Given the description of an element on the screen output the (x, y) to click on. 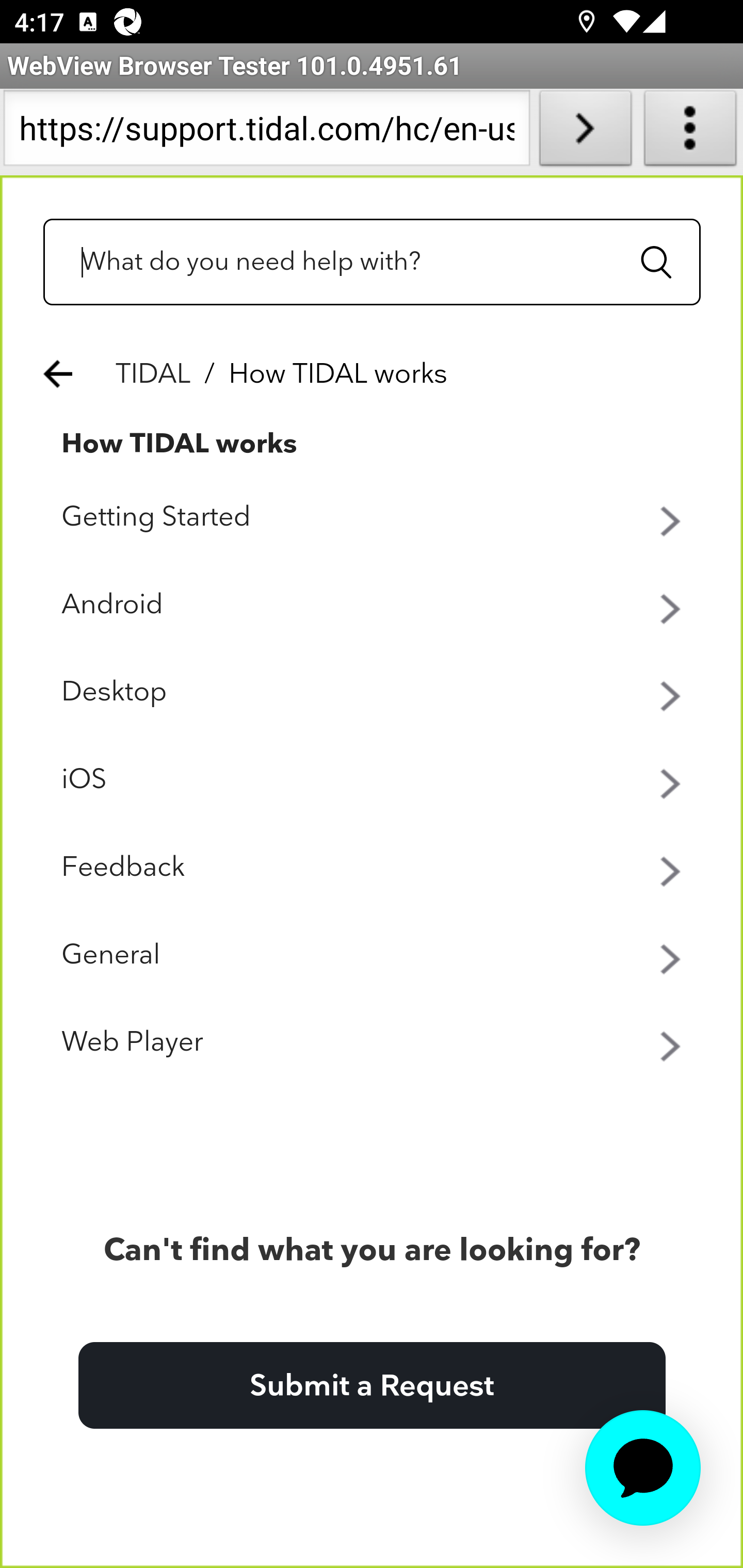
Load URL (585, 132)
About WebView (690, 132)
TIDAL (153, 374)
How TIDAL works (179, 444)
Getting Started (372, 517)
Android (372, 605)
Desktop (372, 692)
iOS (372, 779)
Feedback (372, 868)
General (372, 956)
Web Player (372, 1043)
Submit a Request (371, 1386)
